Given the description of an element on the screen output the (x, y) to click on. 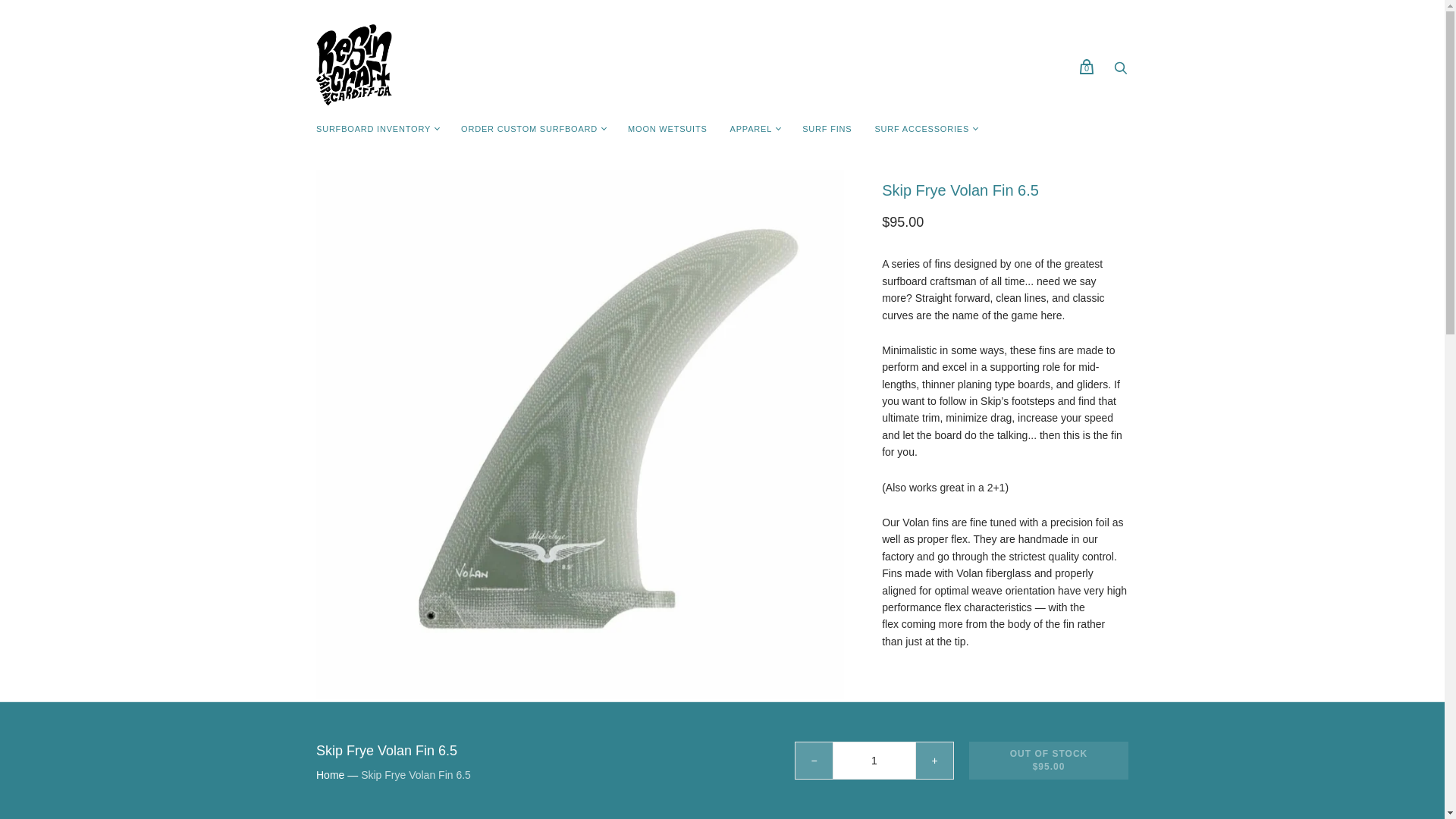
SURFBOARD INVENTORY (373, 129)
SURF FINS (826, 129)
ORDER CUSTOM SURFBOARD (528, 129)
Home (329, 775)
MOON WETSUITS (667, 129)
1 (873, 760)
0 (1085, 66)
APPAREL (751, 129)
SURF ACCESSORIES (921, 129)
